Given the description of an element on the screen output the (x, y) to click on. 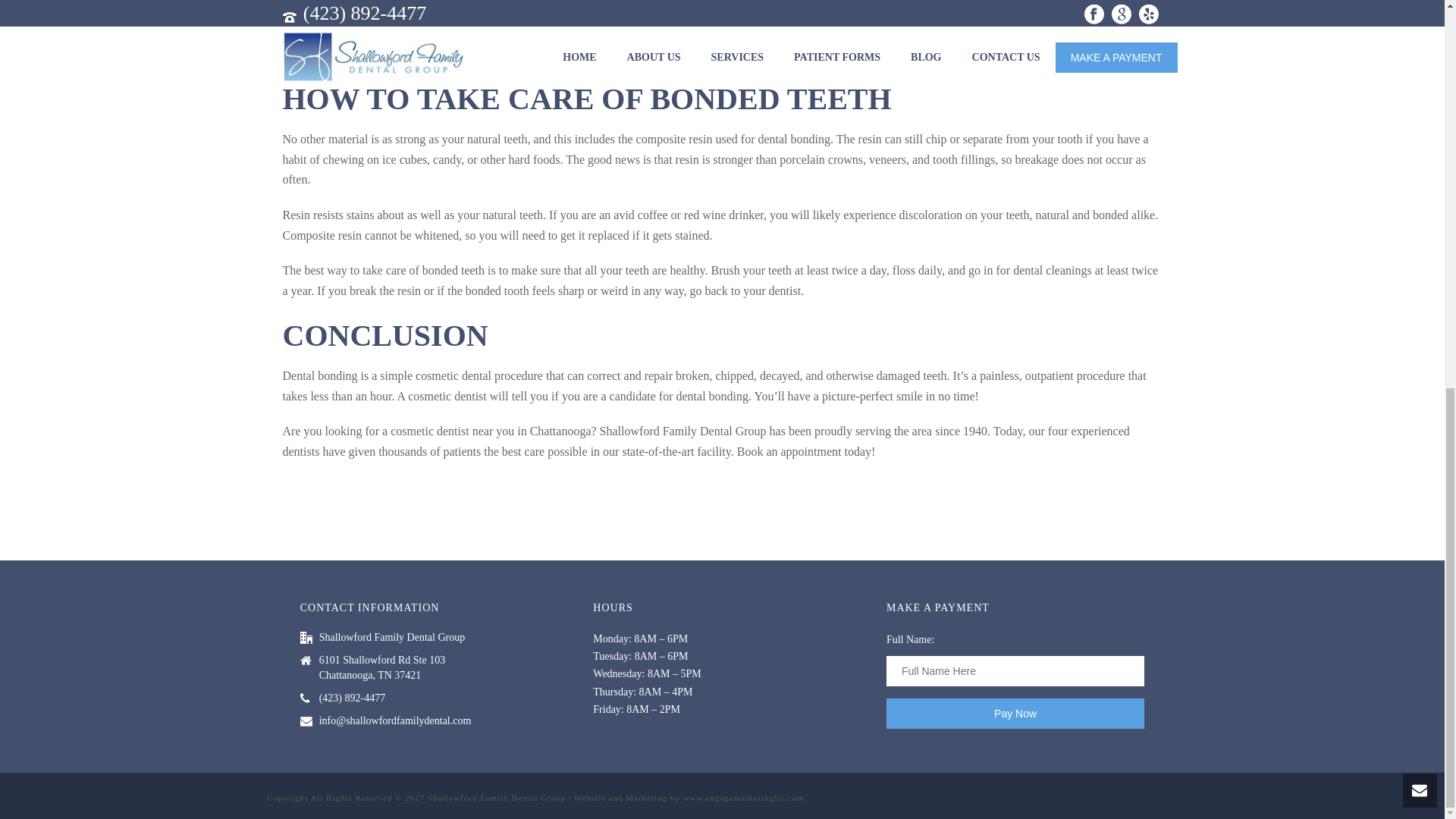
Pay Now (1015, 713)
